Given the description of an element on the screen output the (x, y) to click on. 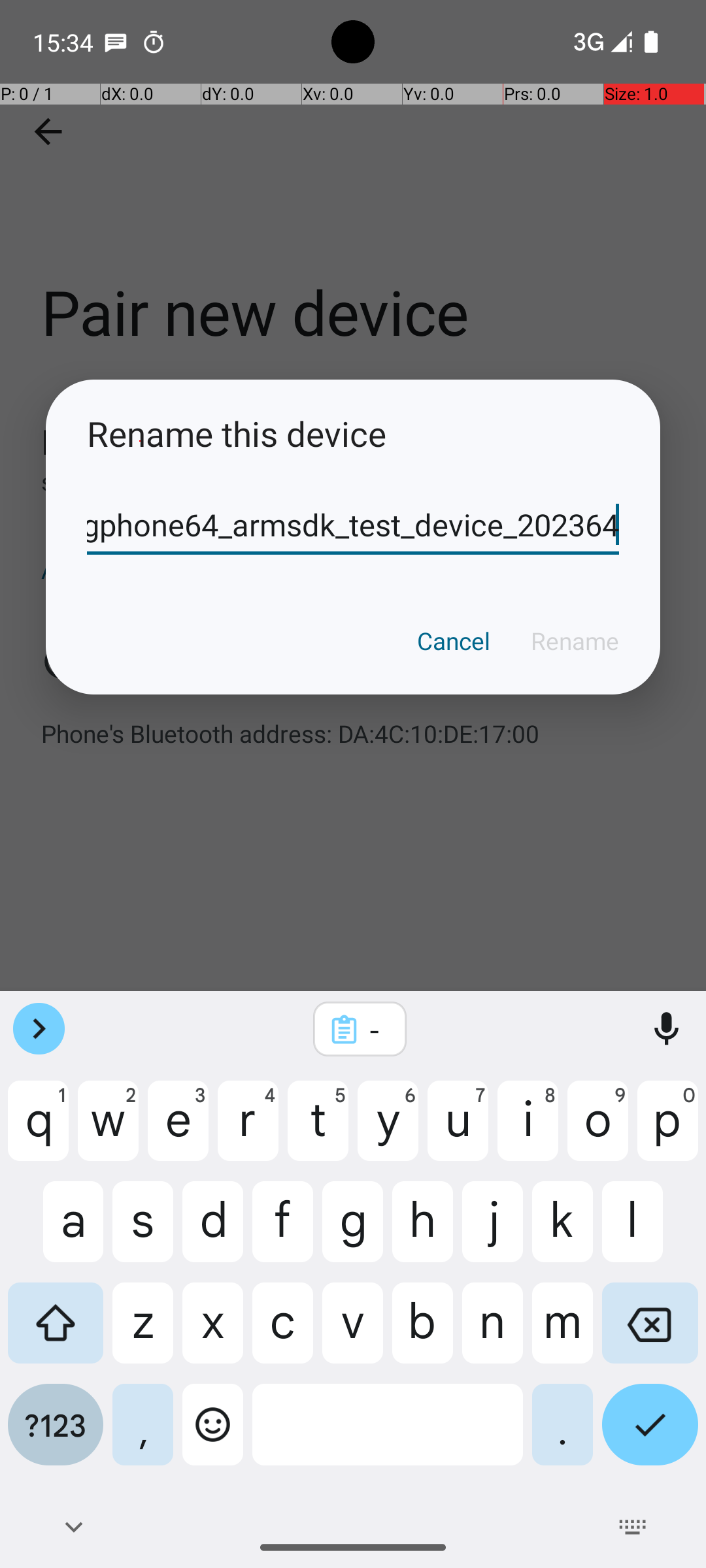
sdk_gphone64_armsdk_test_device_202364 Element type: android.widget.EditText (352, 525)
